Given the description of an element on the screen output the (x, y) to click on. 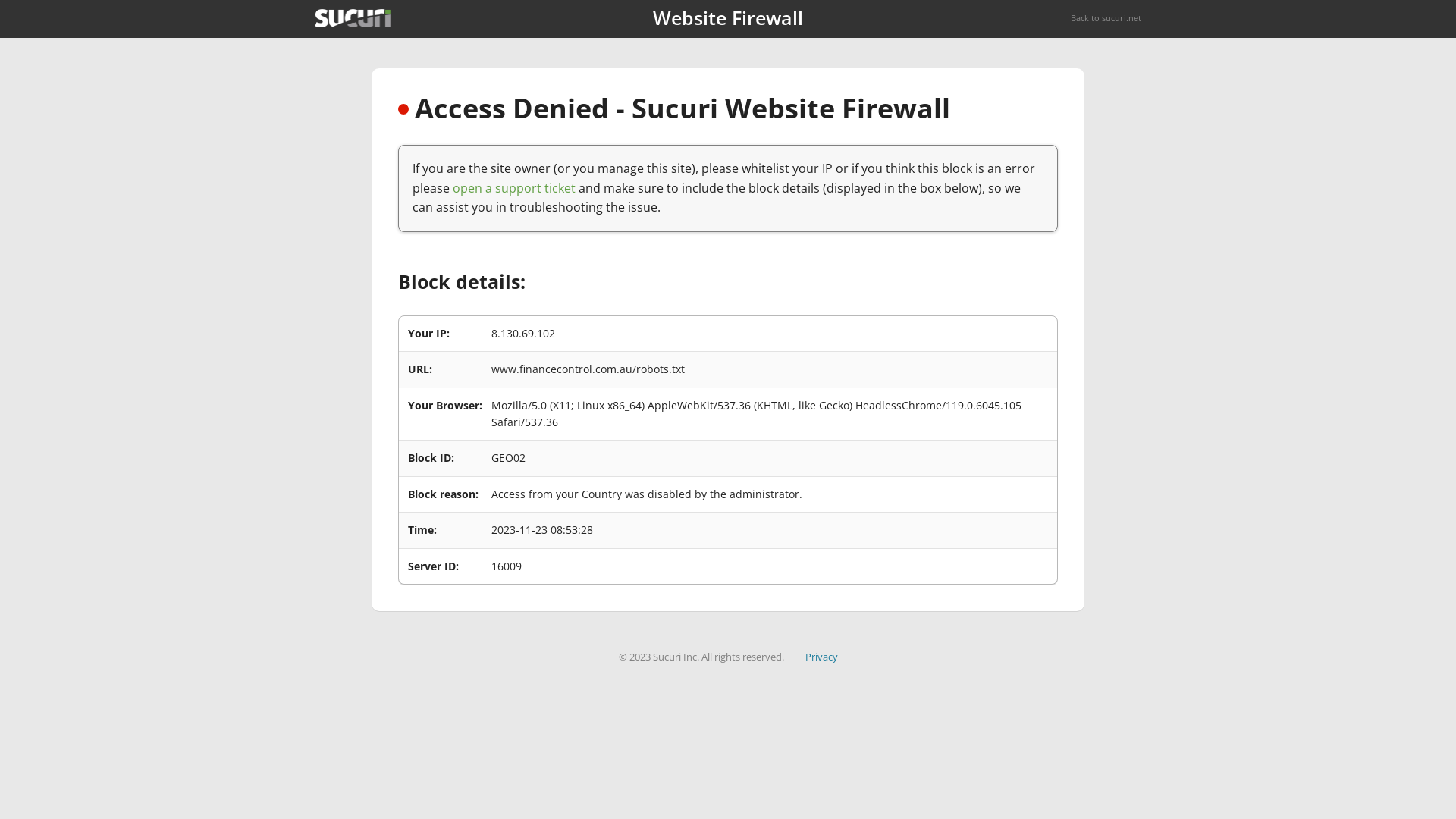
Back to sucuri.net Element type: text (1105, 18)
open a support ticket Element type: text (513, 187)
Privacy Element type: text (821, 656)
